Given the description of an element on the screen output the (x, y) to click on. 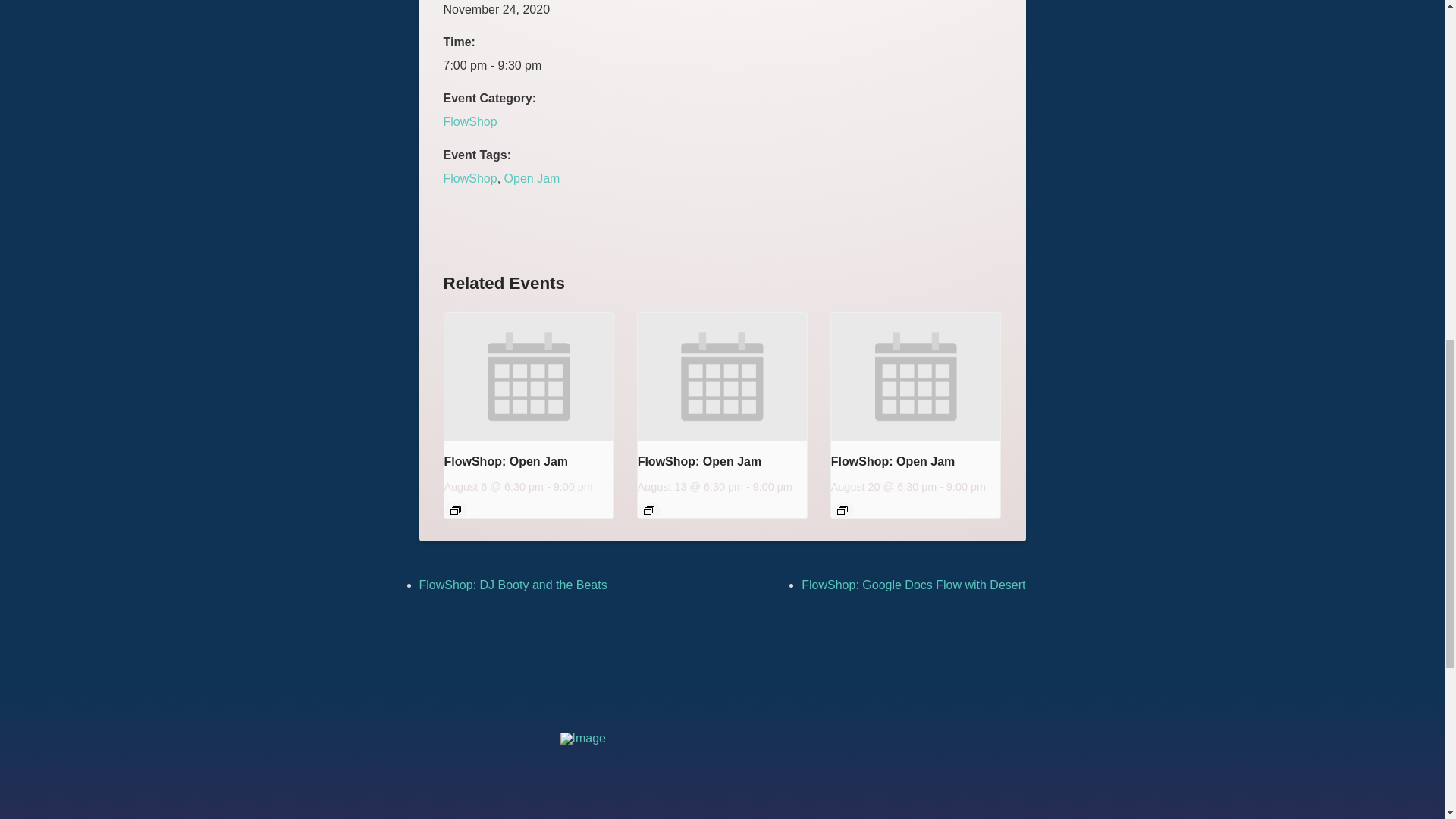
FlowShop (469, 178)
Event Series (842, 510)
2020-11-24 (496, 9)
Event Series (455, 510)
FlowShop: Open Jam (893, 461)
Open Jam (531, 178)
FlowShop: Open Jam (699, 461)
2020-11-24 (506, 65)
FlowShop: Open Jam (506, 461)
Event Series (648, 510)
